Given the description of an element on the screen output the (x, y) to click on. 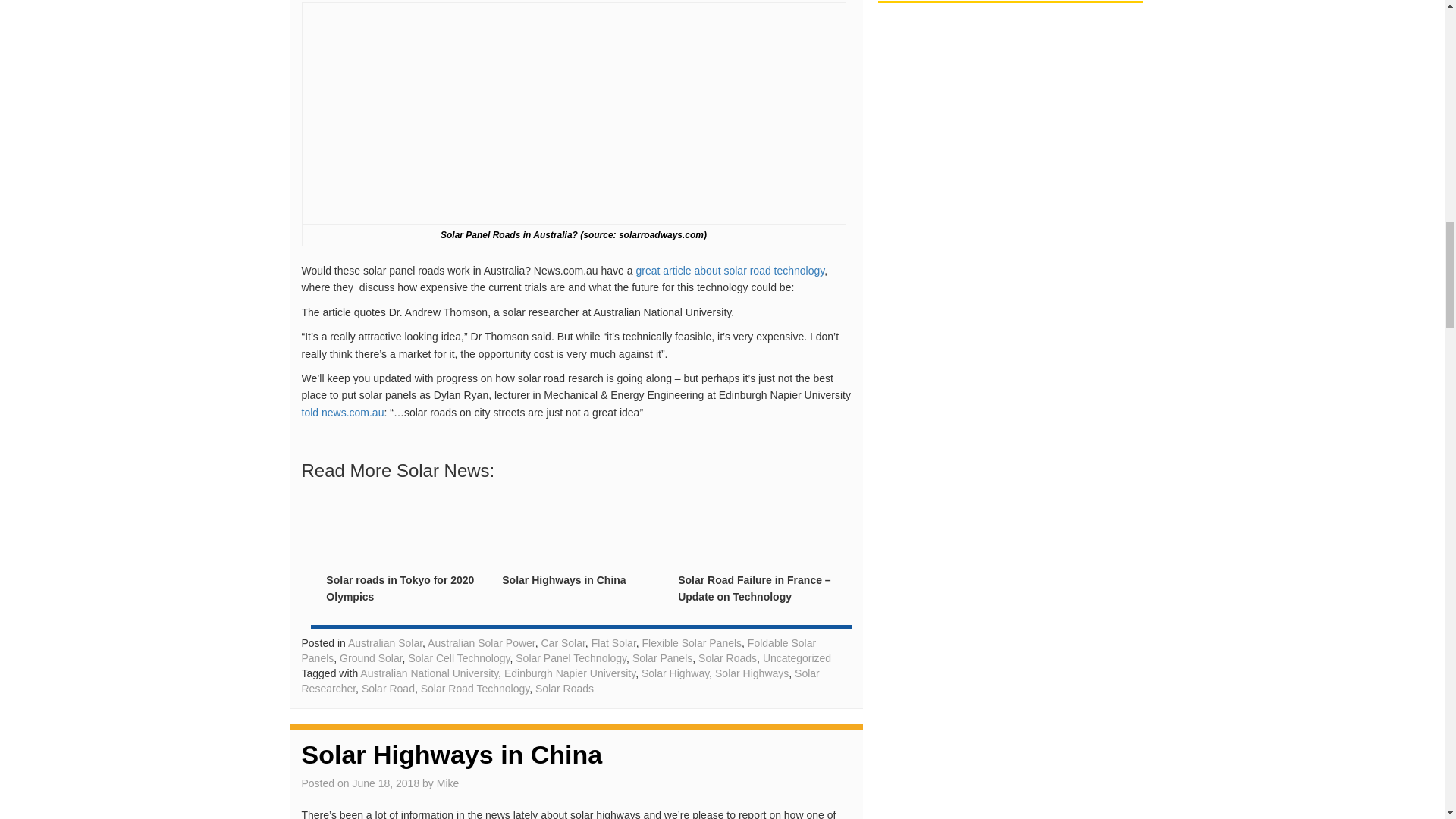
Solar Highways in China (564, 580)
View all posts by Mike (448, 783)
4:34 pm (385, 783)
Solar roads in Tokyo for 2020 Olympics (400, 588)
